Given the description of an element on the screen output the (x, y) to click on. 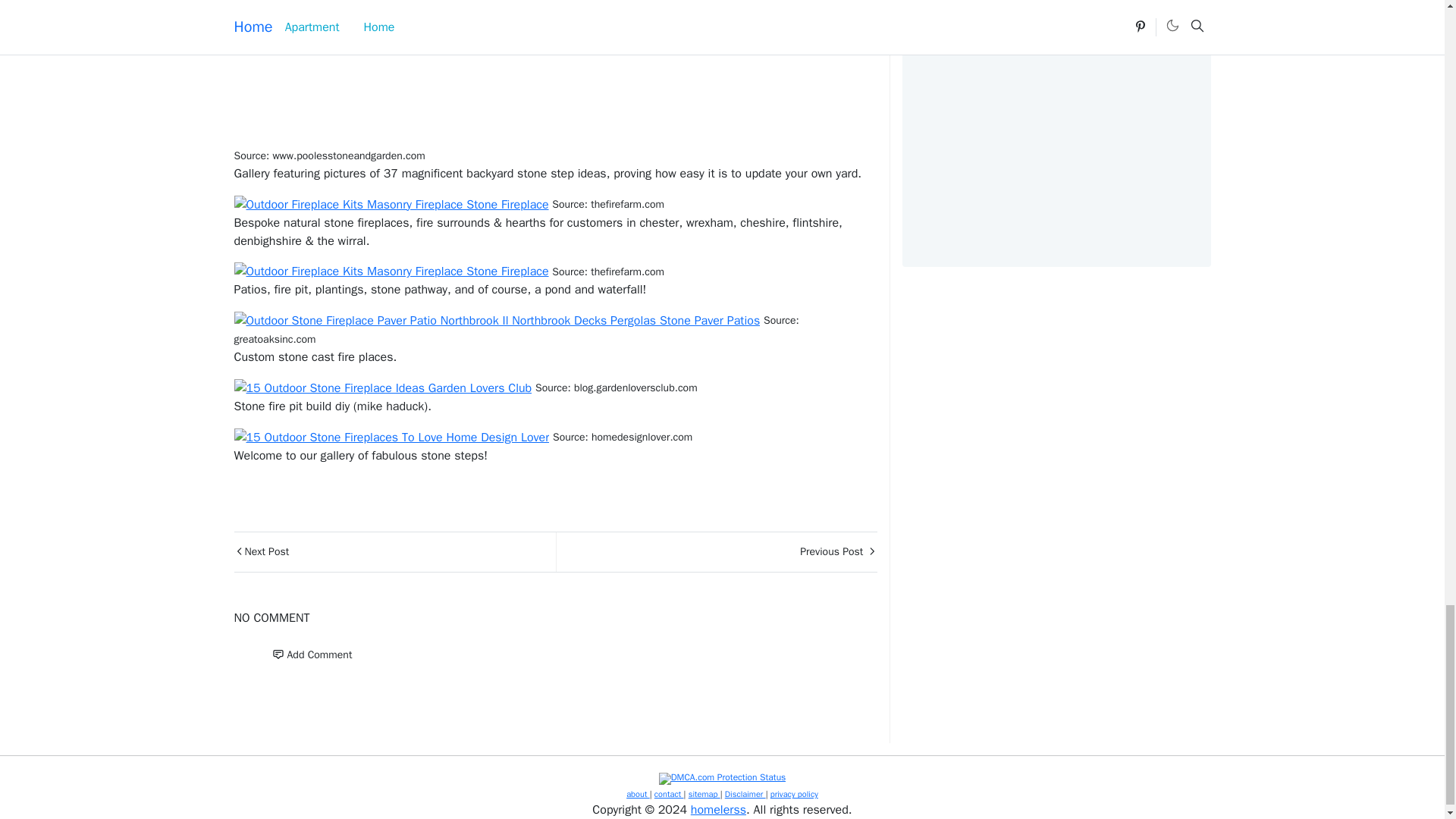
Next Post (393, 551)
Disclaimer (745, 793)
privacy policy (794, 793)
Check blog Protection Status (722, 777)
contact (668, 793)
Add Comment (311, 654)
homelerss (717, 809)
about (637, 793)
Previous Post (715, 551)
sitemap (704, 793)
